Given the description of an element on the screen output the (x, y) to click on. 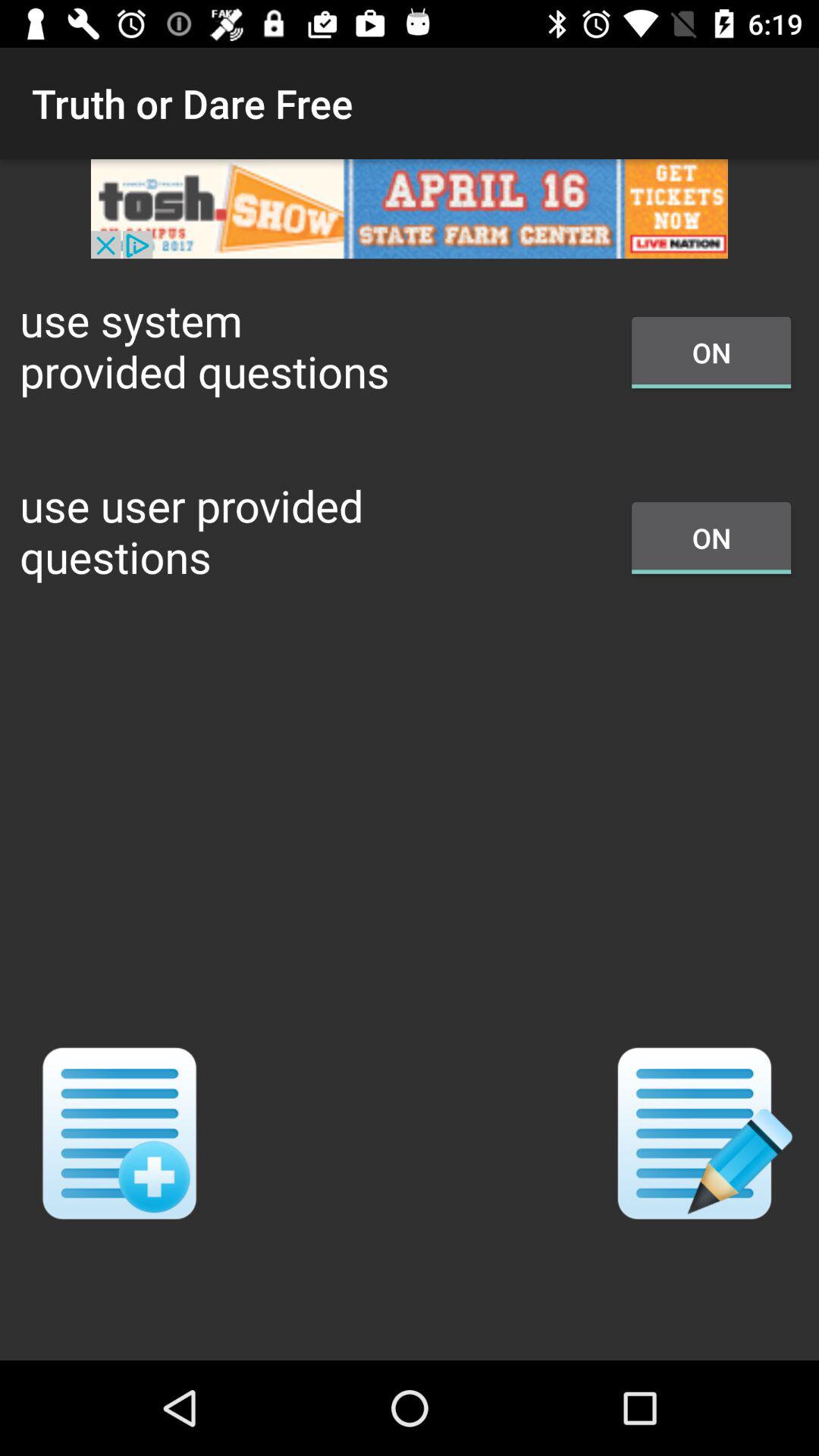
remove the add (409, 208)
